Given the description of an element on the screen output the (x, y) to click on. 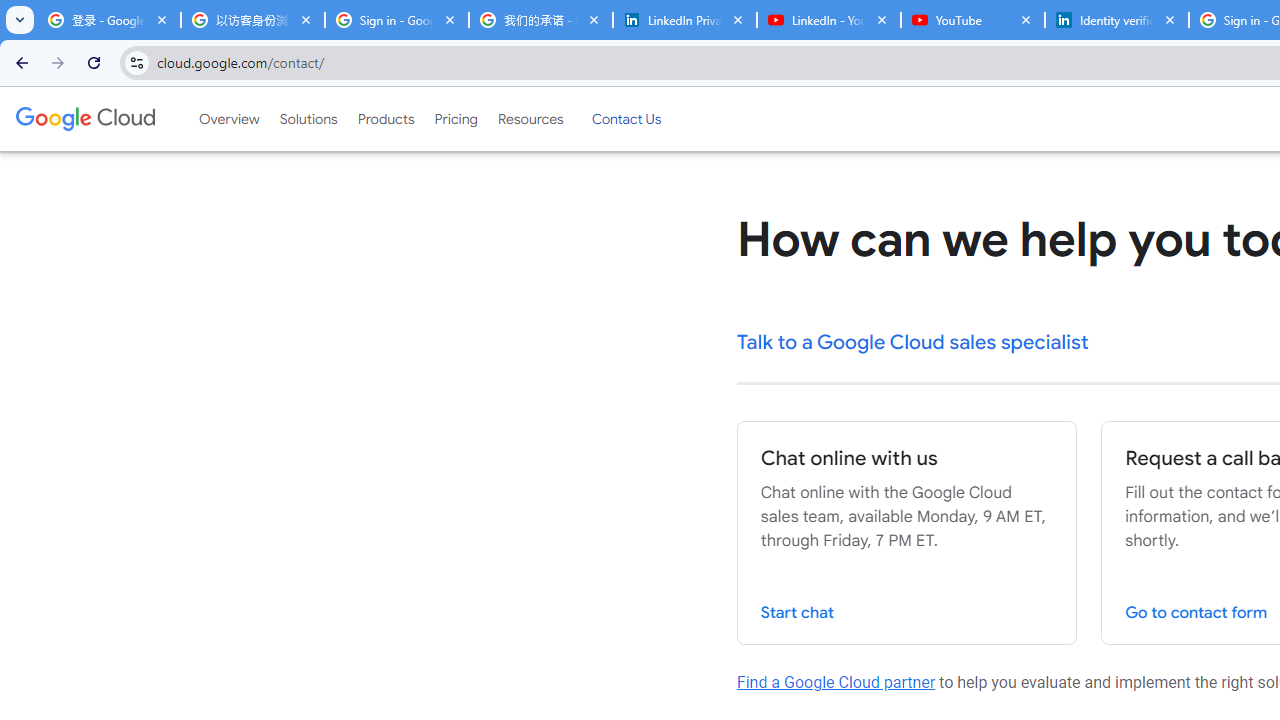
Resources (530, 119)
LinkedIn Privacy Policy (684, 20)
Solutions (308, 119)
YouTube (972, 20)
Sign in - Google Accounts (396, 20)
LinkedIn - YouTube (828, 20)
Pricing (455, 119)
